Given the description of an element on the screen output the (x, y) to click on. 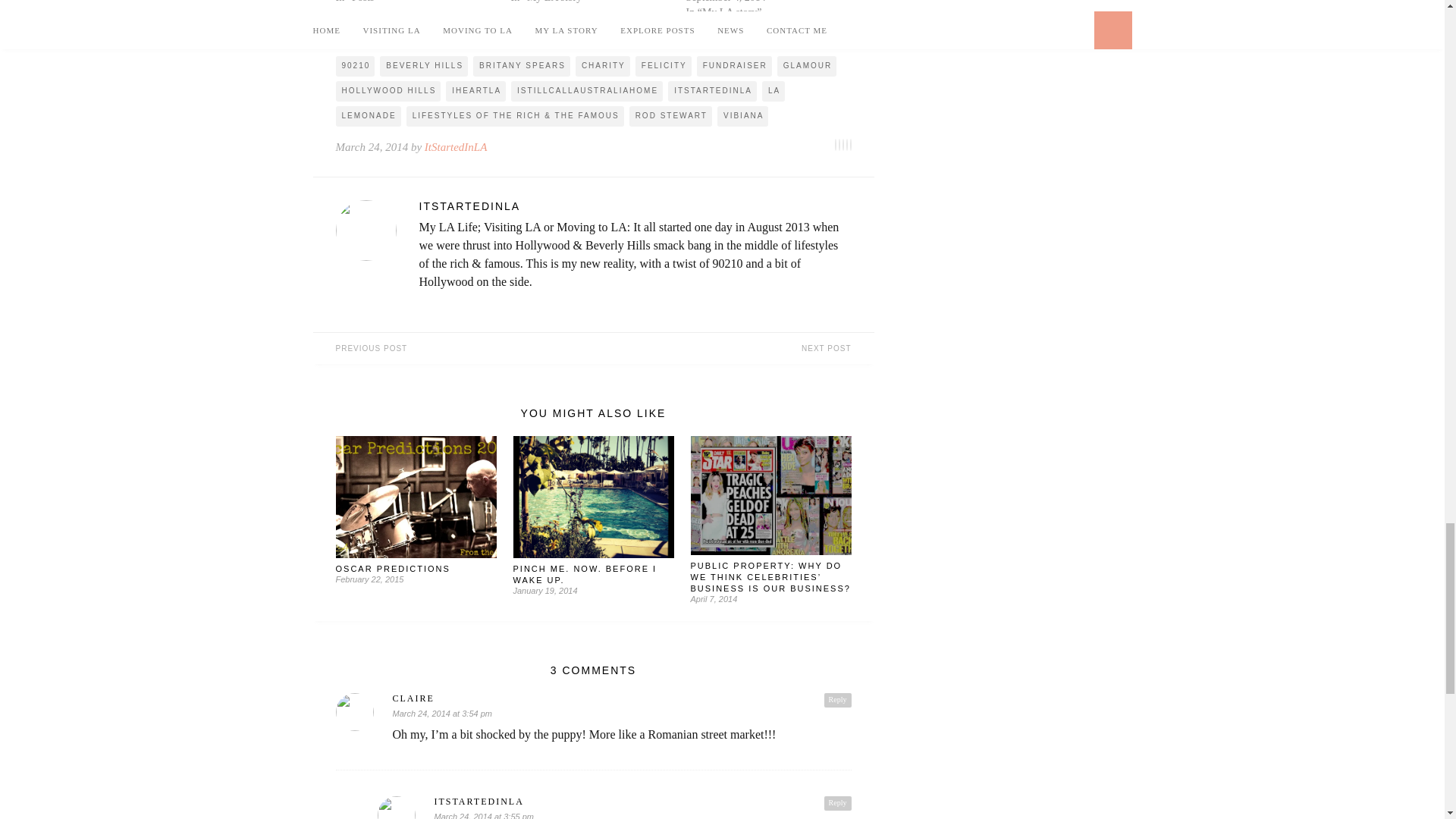
Posts by ItStartedInLA (456, 146)
Posts by ItStartedInLA (634, 205)
